Given the description of an element on the screen output the (x, y) to click on. 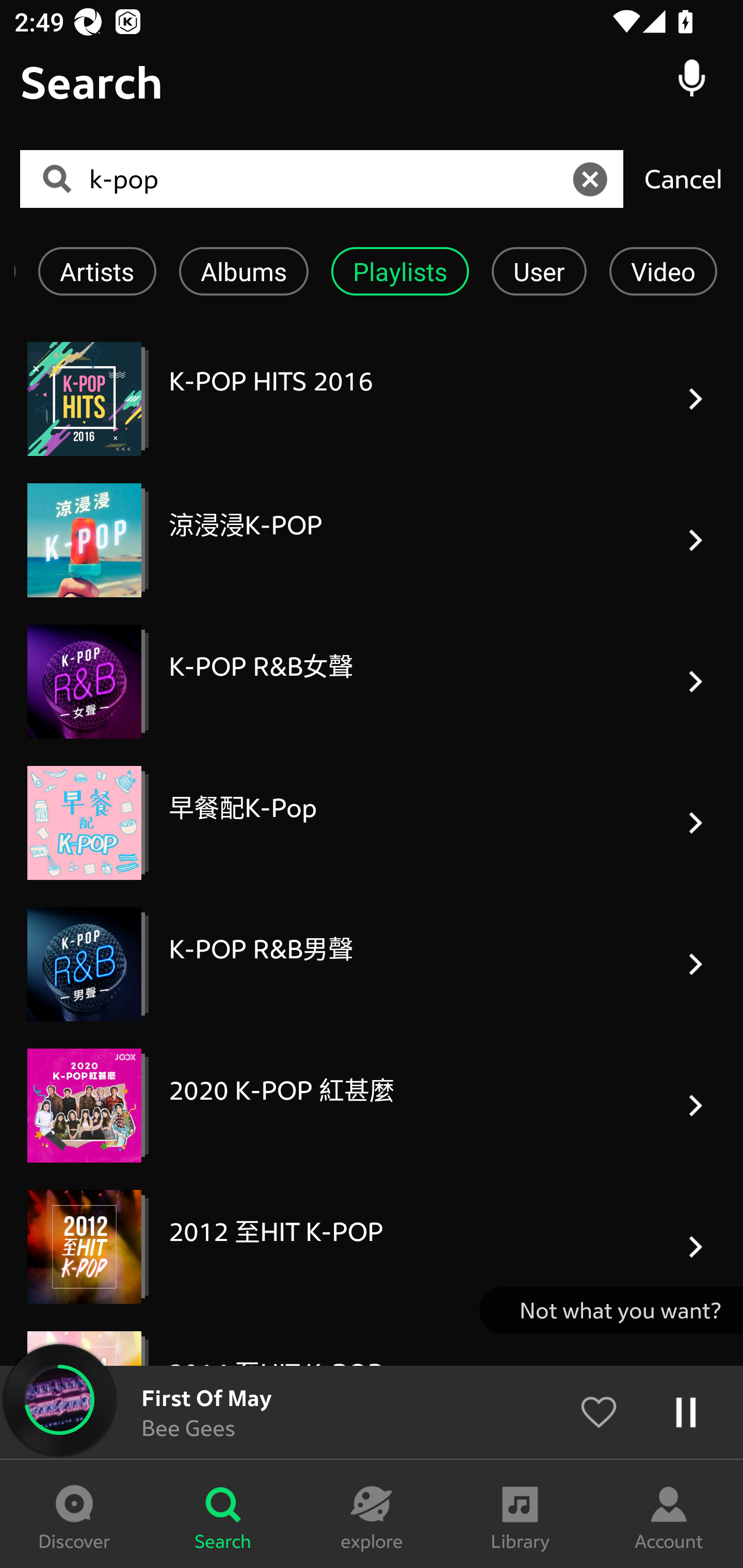
Cancel (683, 178)
k-pop (327, 179)
Artists (96, 271)
Albums (243, 271)
User (539, 271)
Video (663, 271)
K-POP HITS 2016 (371, 398)
涼浸浸K-POP (371, 539)
K-POP R&B女聲 (371, 681)
早餐配K-Pop (371, 822)
K-POP R&B男聲 (371, 963)
2020 K-POP 紅甚麼 (371, 1104)
2012 至HIT K-POP (371, 1247)
First Of May Bee Gees (371, 1412)
Discover (74, 1513)
explore (371, 1513)
Library (519, 1513)
Account (668, 1513)
